Given the description of an element on the screen output the (x, y) to click on. 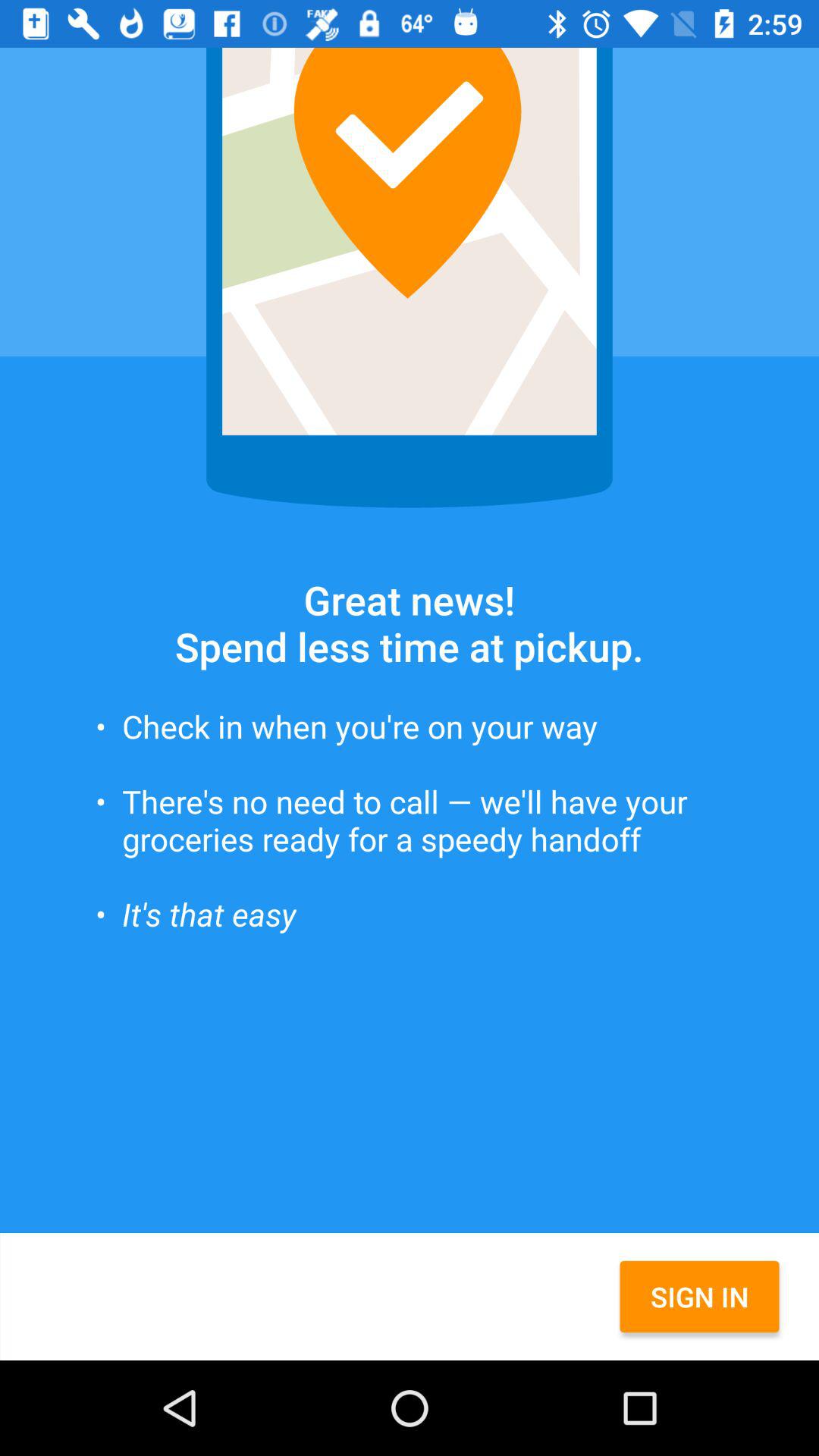
turn on sign in at the bottom right corner (699, 1296)
